Given the description of an element on the screen output the (x, y) to click on. 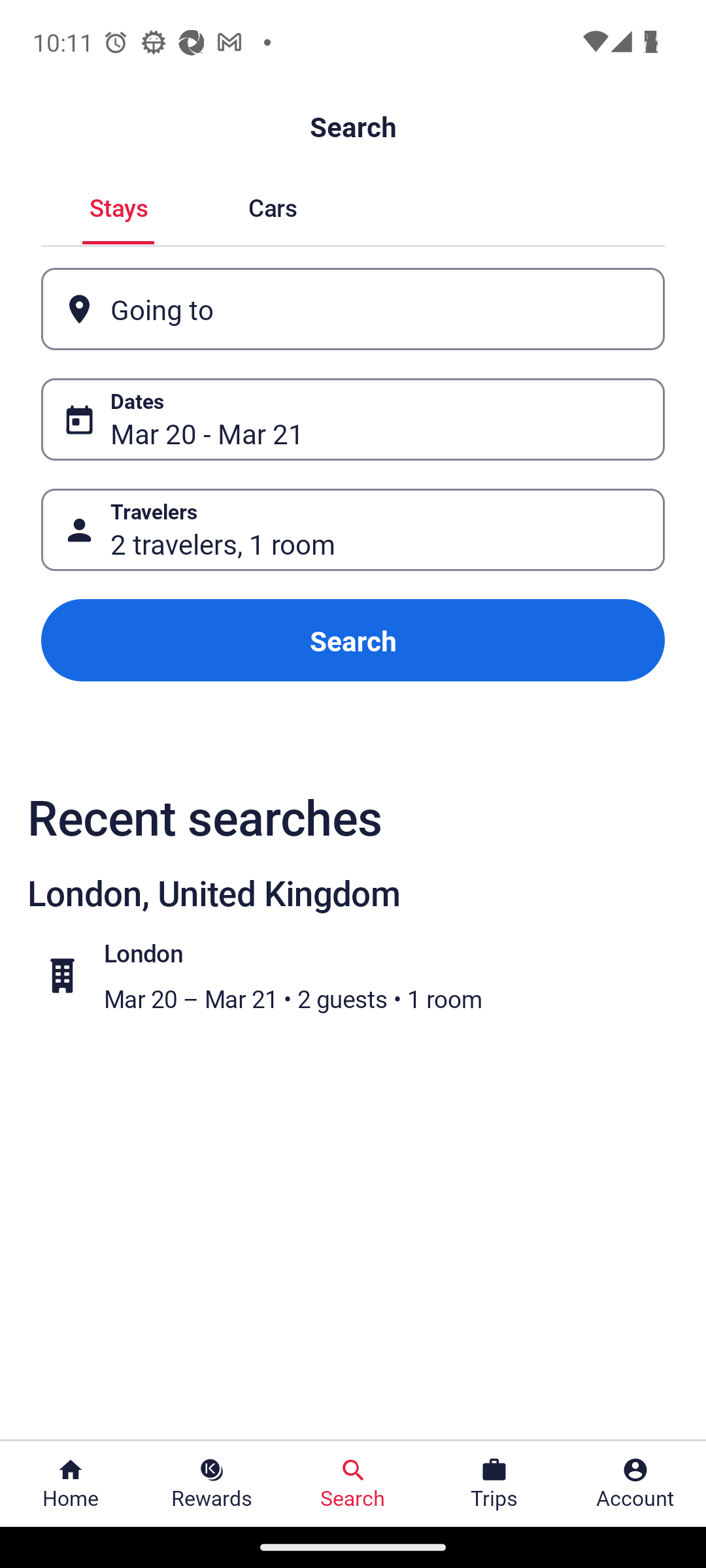
Cars (272, 205)
Going to Button (352, 308)
Dates Button Mar 20 - Mar 21 (352, 418)
Travelers Button 2 travelers, 1 room (352, 529)
Search (352, 640)
London Mar 20 – Mar 21 • 2 guests • 1 room (363, 974)
Home Home Button (70, 1483)
Rewards Rewards Button (211, 1483)
Trips Trips Button (493, 1483)
Account Profile. Button (635, 1483)
